Given the description of an element on the screen output the (x, y) to click on. 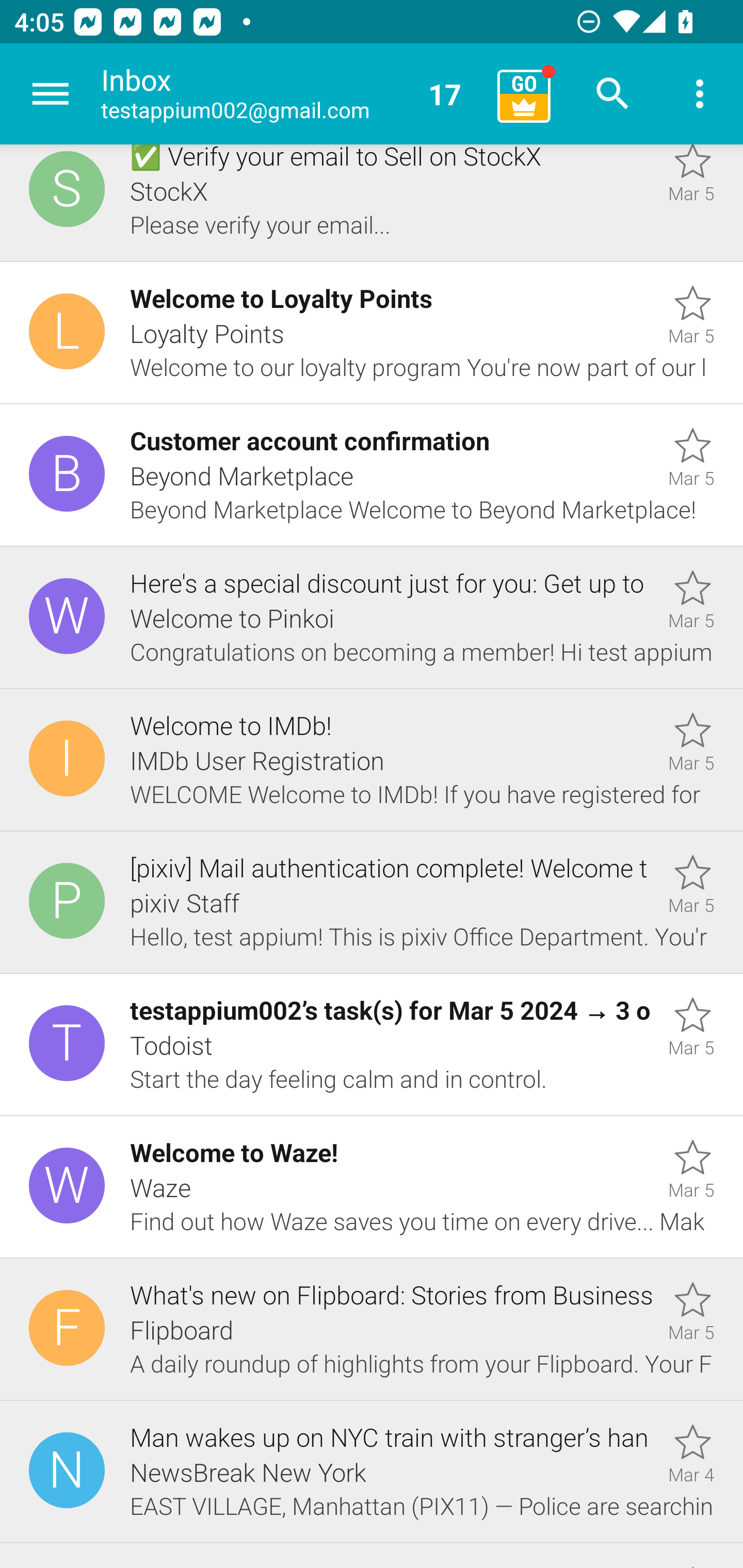
Navigate up (50, 93)
Inbox testappium002@gmail.com 17 (291, 93)
Search (612, 93)
More options (699, 93)
